Given the description of an element on the screen output the (x, y) to click on. 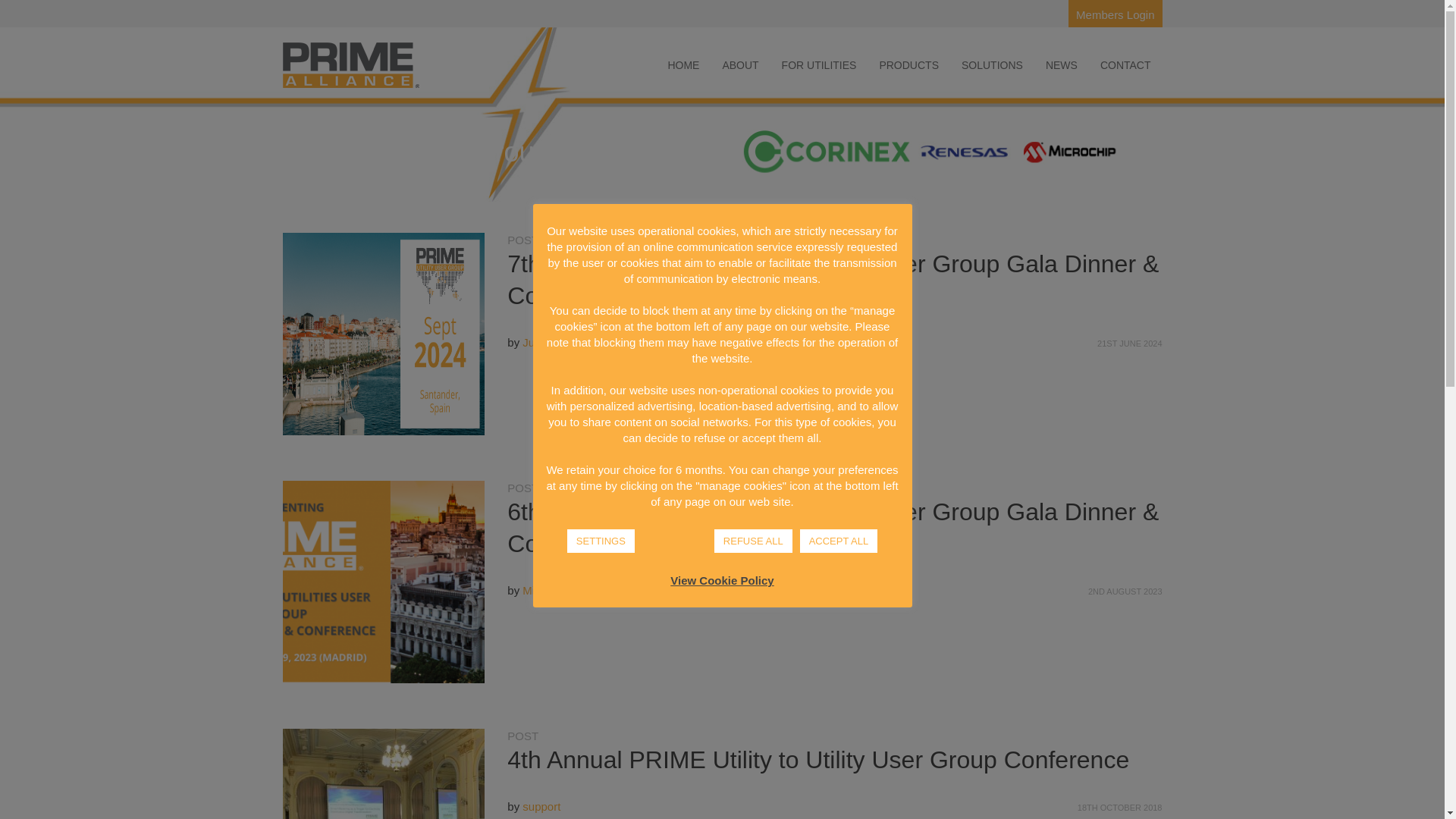
4th Annual PRIME Utility to Utility User Group Conference (383, 773)
21st June 2024 (1129, 343)
FOR UTILITIES (818, 64)
Posts by support (541, 806)
SOLUTIONS (991, 64)
2nd August 2023 (1124, 590)
Miriam Lorenzo (560, 590)
CONTACT (1125, 64)
18th October 2018 (1119, 807)
4th Annual PRIME Utility to Utility User Group Conference (817, 759)
Posts by Miriam Lorenzo (560, 590)
PRODUCTS (908, 64)
Members Login (1114, 13)
Posts by Judit Fernandez Safir (576, 341)
Judit Fernandez Safir (576, 341)
